Given the description of an element on the screen output the (x, y) to click on. 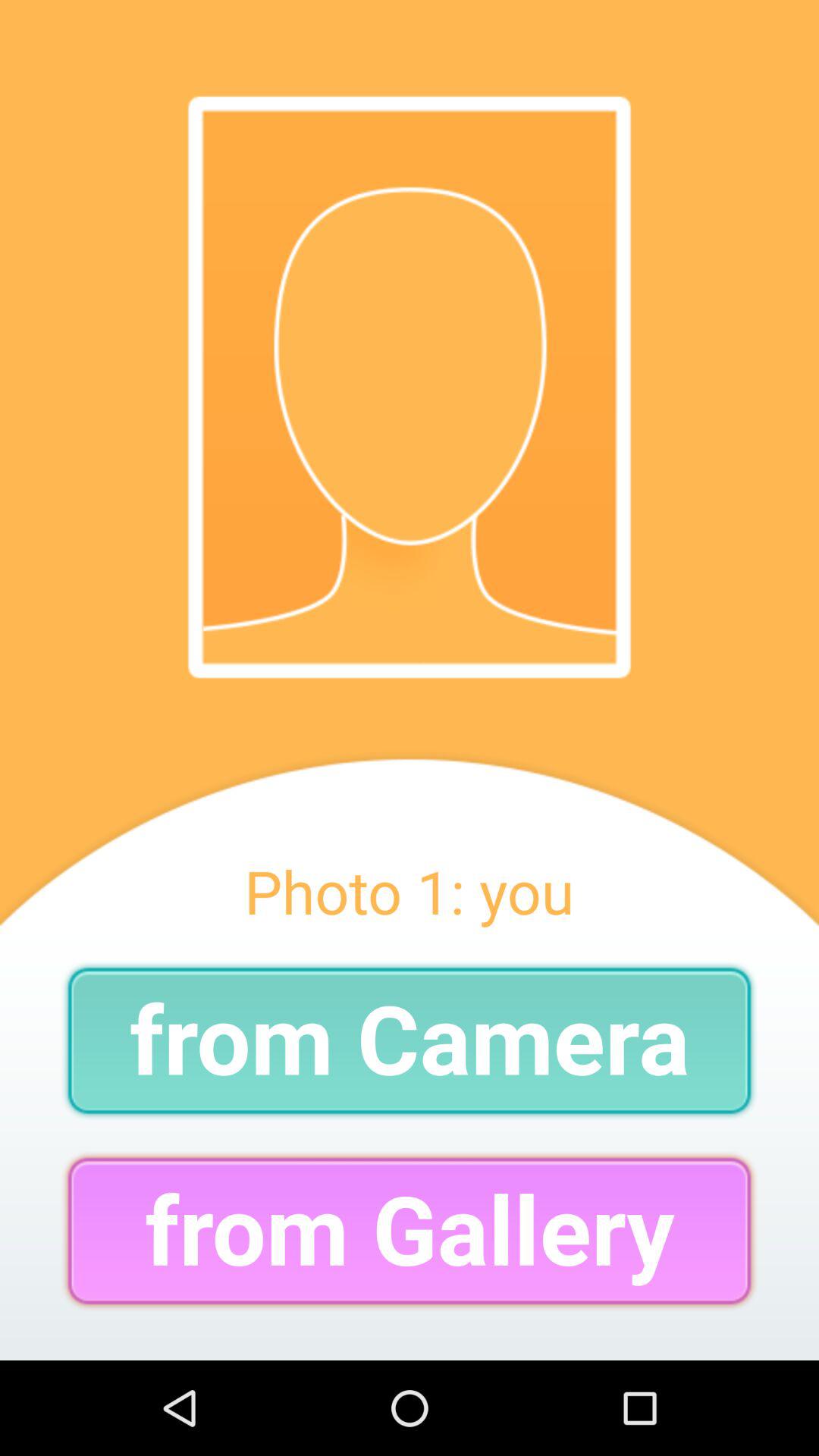
tap from gallery item (409, 1230)
